Given the description of an element on the screen output the (x, y) to click on. 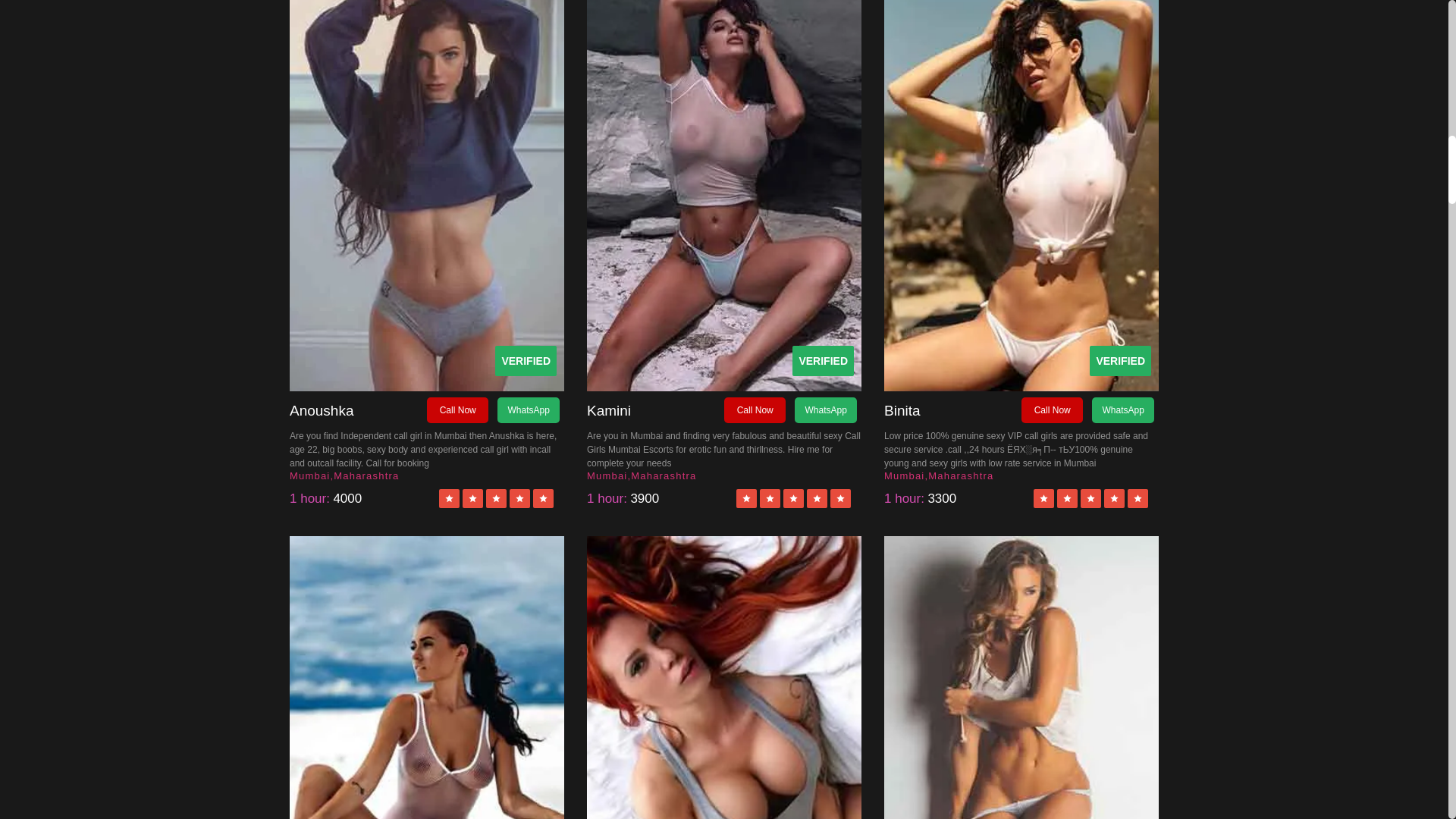
Anoushka (357, 410)
WhatsApp (825, 410)
Kamini (654, 410)
Binita (952, 410)
Call Now (456, 410)
Call Now (1052, 410)
WhatsApp (528, 410)
WhatsApp (1122, 410)
Call Now (754, 410)
